Given the description of an element on the screen output the (x, y) to click on. 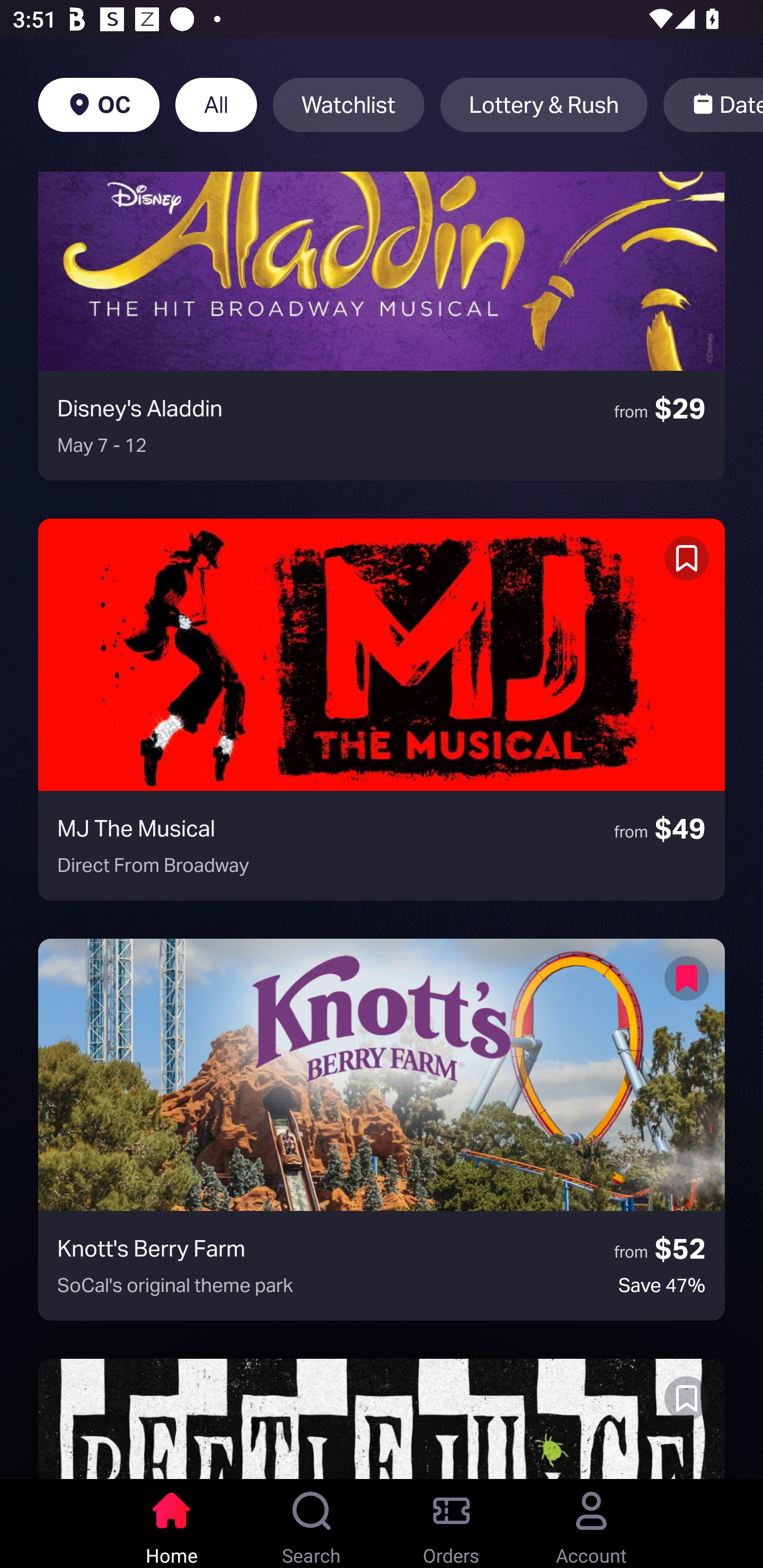
OC (98, 104)
All (216, 104)
Watchlist (348, 104)
Lottery & Rush (543, 104)
Disney's Aladdin from $29 May 7 - 12 (381, 324)
MJ The Musical from $49 Direct From Broadway (381, 709)
Search (311, 1523)
Orders (451, 1523)
Account (591, 1523)
